Given the description of an element on the screen output the (x, y) to click on. 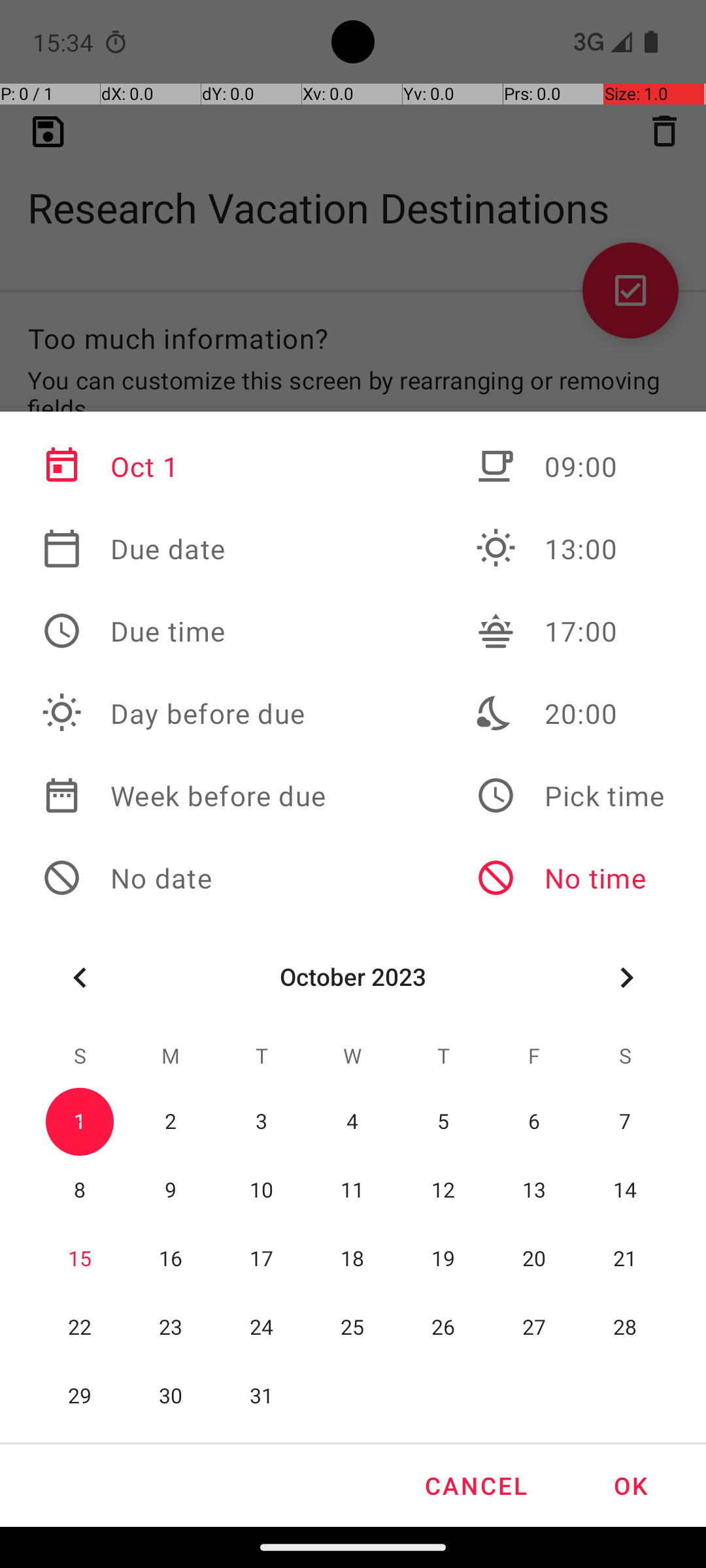
Oct 1 Element type: android.widget.CompoundButton (183, 466)
